Given the description of an element on the screen output the (x, y) to click on. 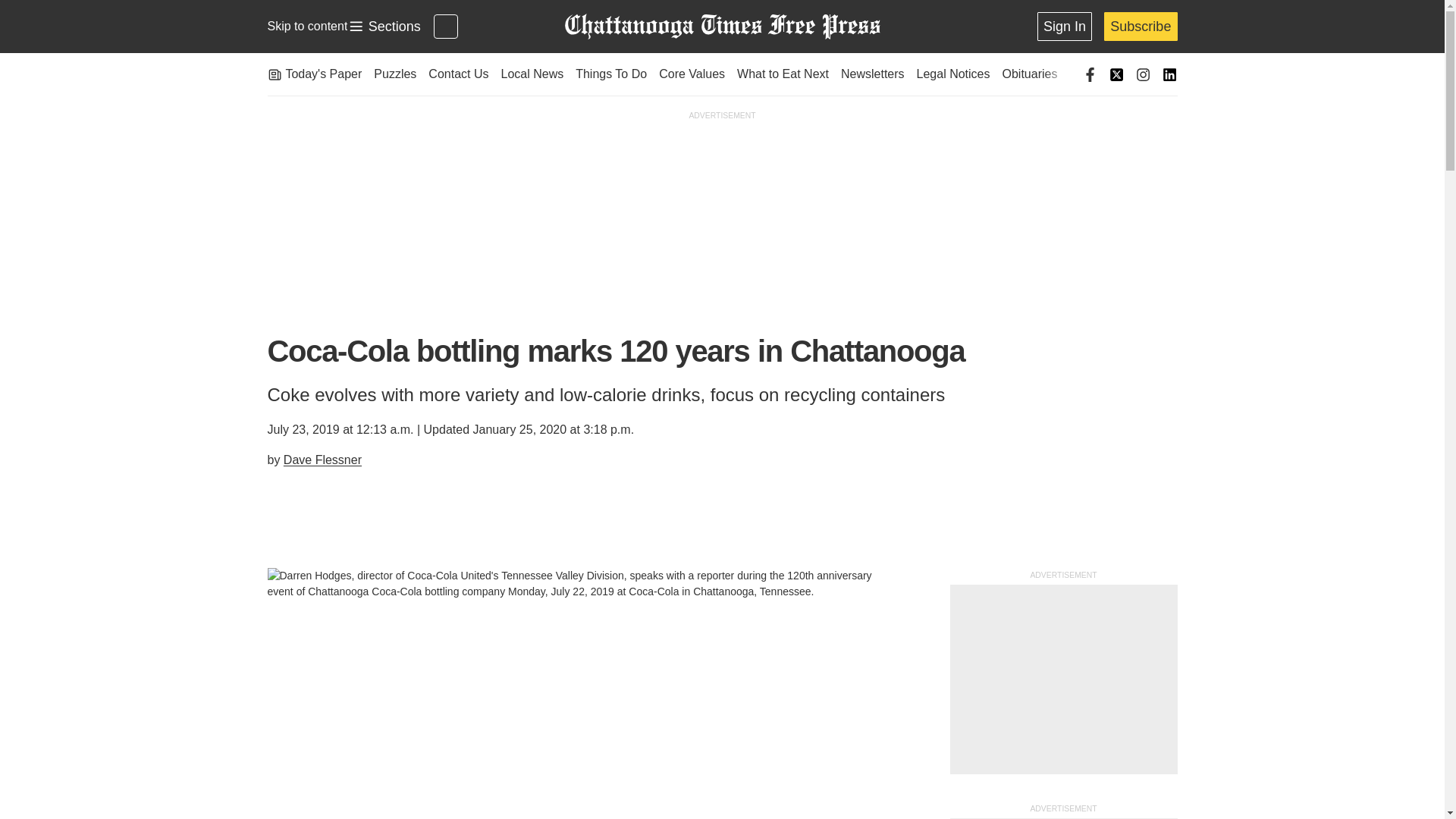
Times Free Press (721, 26)
Skip to content (306, 26)
